Given the description of an element on the screen output the (x, y) to click on. 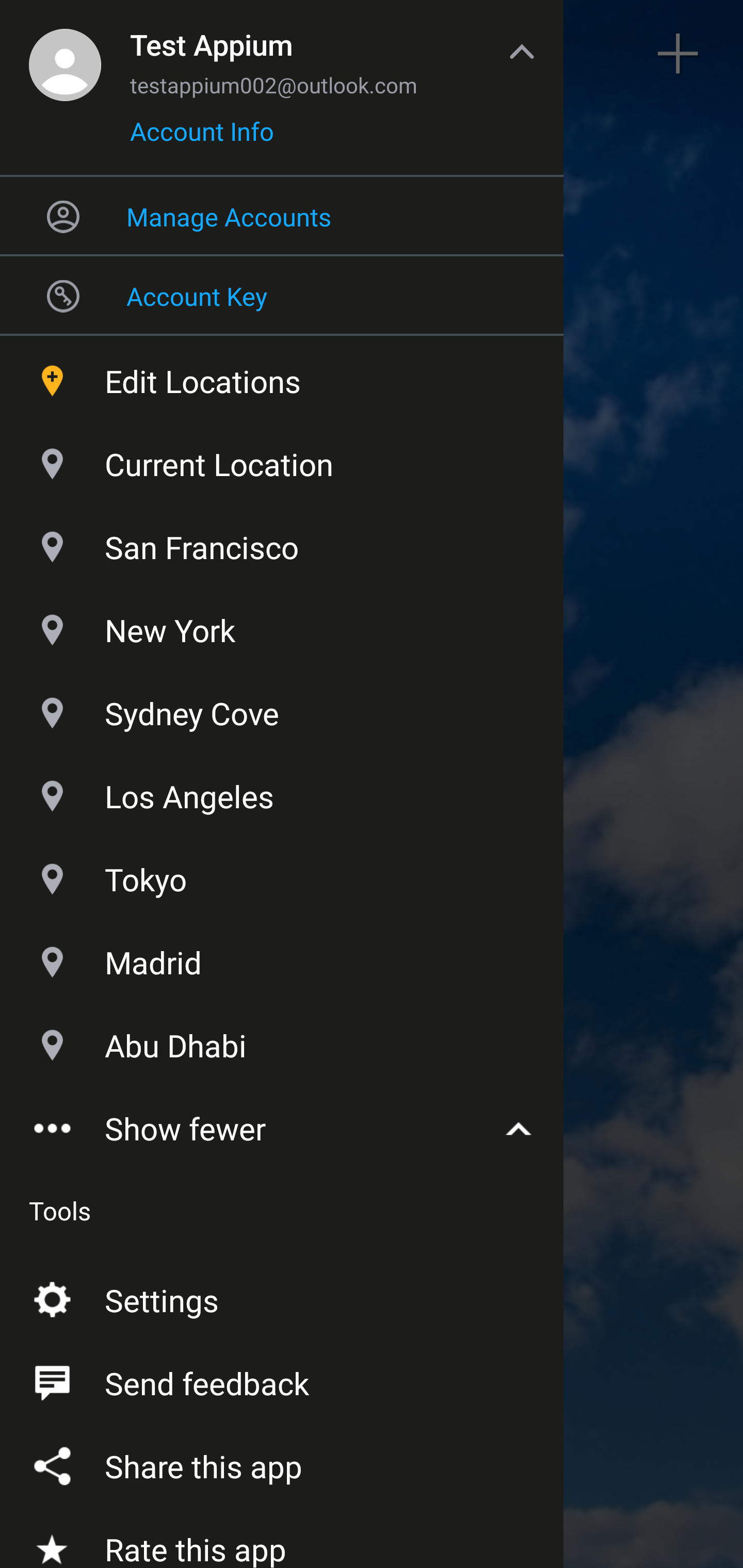
Sidebar (64, 54)
Account Info (202, 137)
Manage Accounts (281, 216)
Account Key (281, 295)
Edit Locations (281, 376)
Current Location (281, 459)
San Francisco (281, 542)
New York (281, 625)
Sydney Cove (281, 709)
Los Angeles (281, 792)
Tokyo (281, 875)
Madrid (281, 958)
Abu Dhabi (281, 1041)
Settings (281, 1295)
Send feedback (281, 1378)
Share this app (281, 1461)
